Given the description of an element on the screen output the (x, y) to click on. 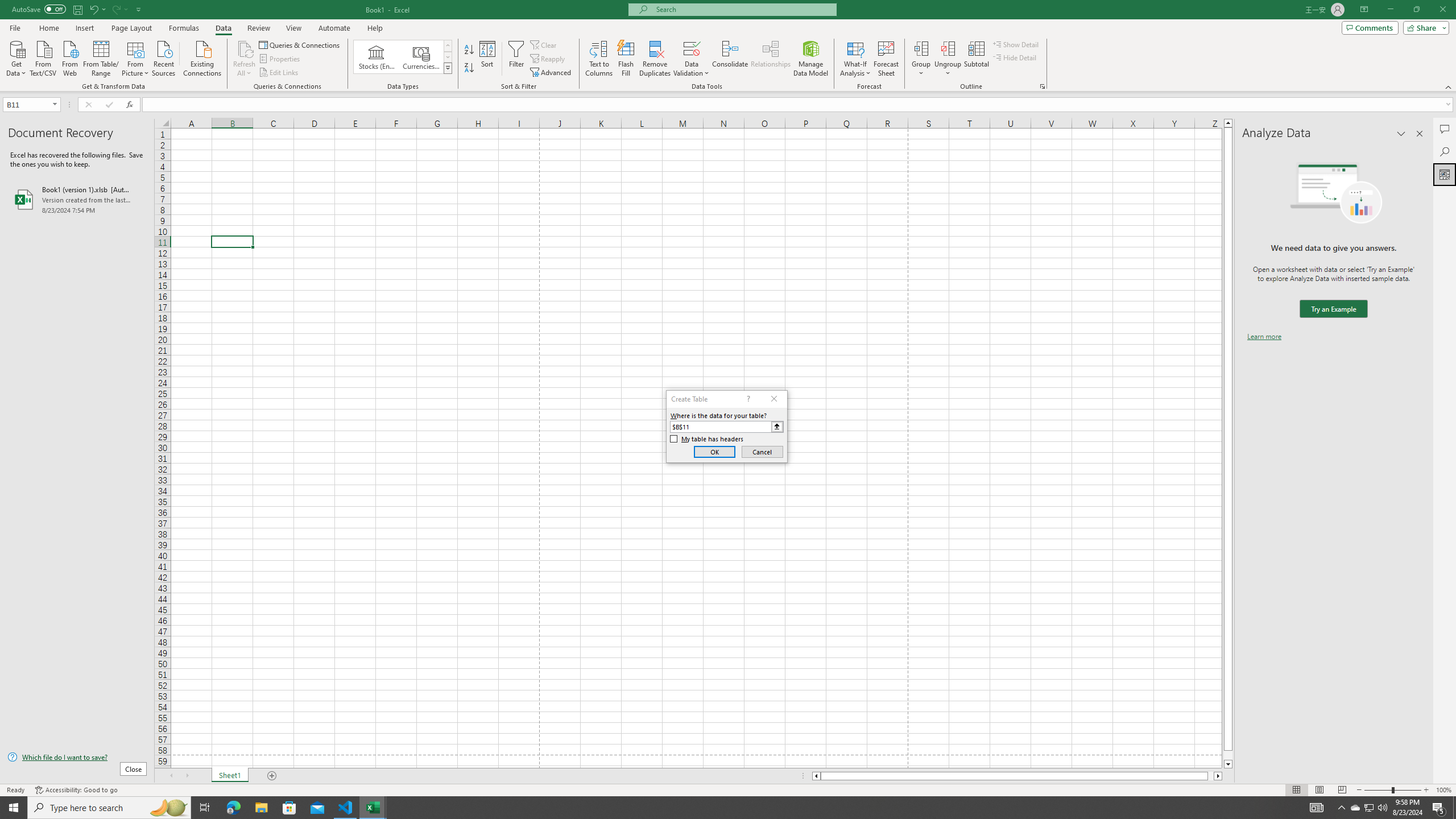
Learn more (1264, 336)
From Web (69, 57)
Edit Links (279, 72)
Hide Detail (1014, 56)
Sort A to Z (469, 49)
